Given the description of an element on the screen output the (x, y) to click on. 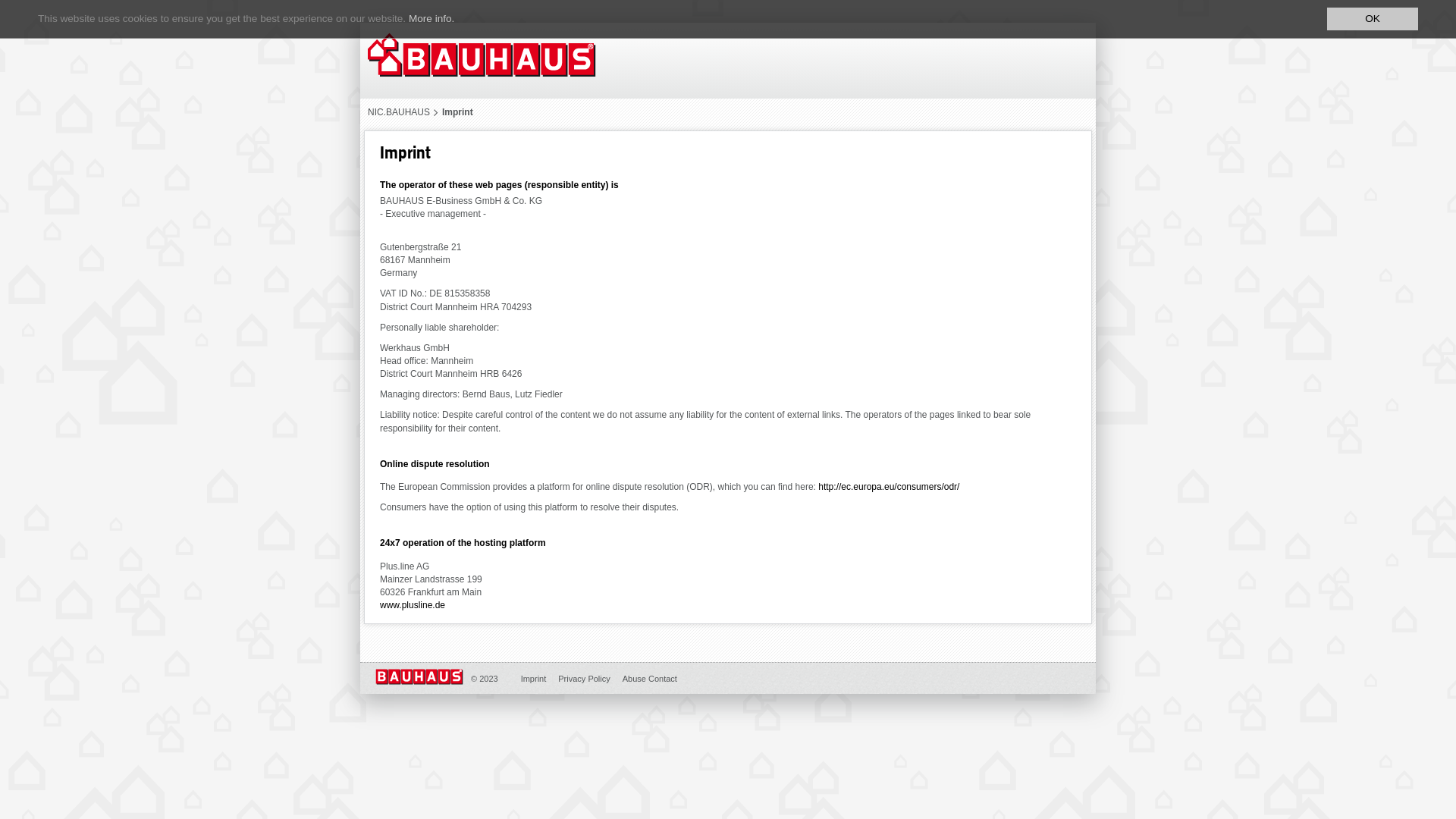
Imprint Element type: text (533, 678)
Imprint Element type: text (457, 111)
Abuse Contact Element type: text (649, 678)
Privacy Policy Element type: text (583, 678)
www.plusline.de Element type: text (412, 604)
More info. Element type: text (431, 18)
NIC.BAUHAUS Element type: text (398, 111)
http://ec.europa.eu/consumers/odr/ Element type: text (888, 486)
OK Element type: text (1372, 18)
